Given the description of an element on the screen output the (x, y) to click on. 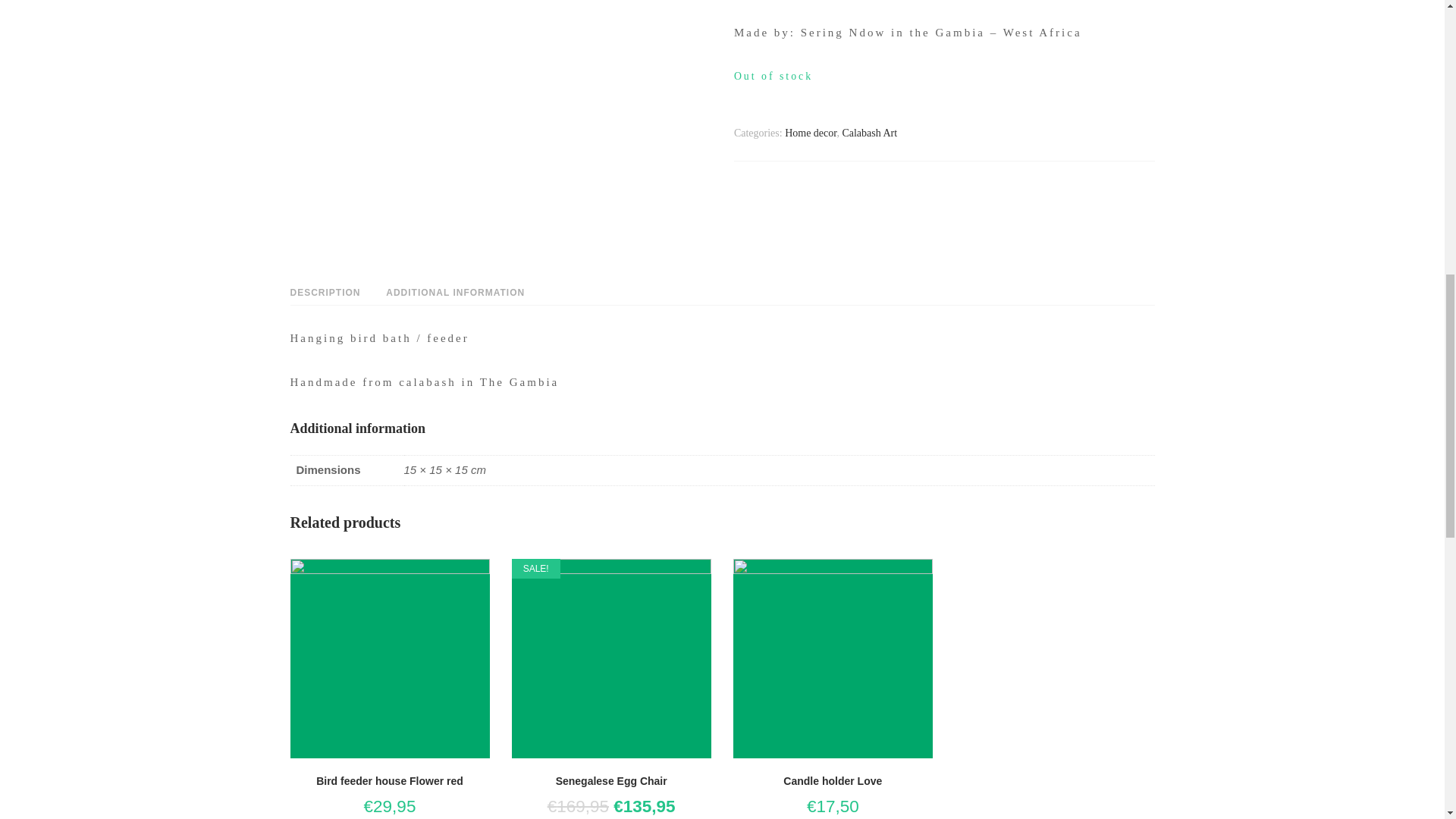
Bird feeder house Flower red (389, 774)
DESCRIPTION (324, 292)
Home decor (809, 132)
ADDITIONAL INFORMATION (454, 292)
Candle holder Love (833, 774)
Senegalese Egg Chair (611, 774)
Calabash Art (868, 132)
